Given the description of an element on the screen output the (x, y) to click on. 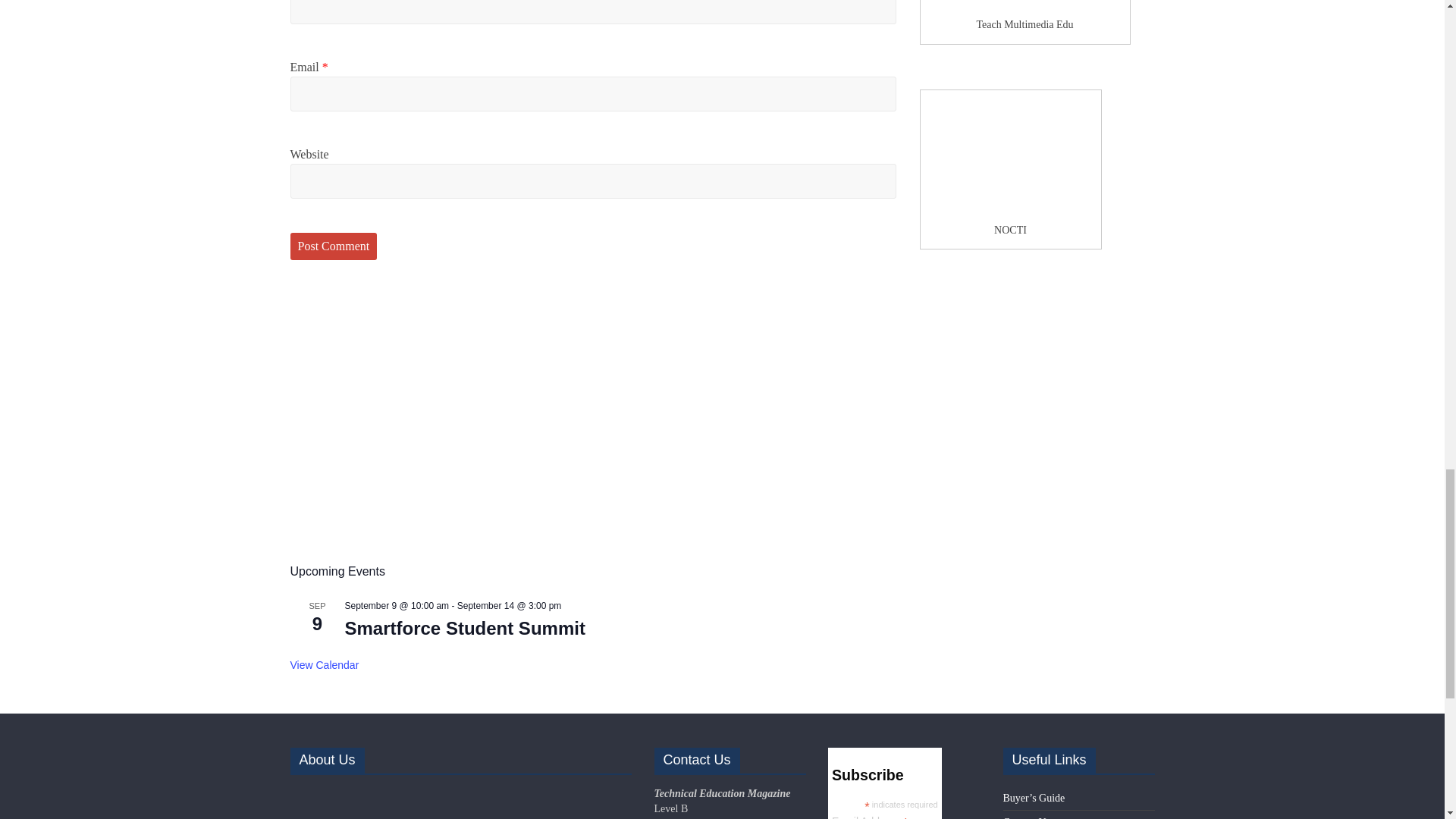
Smartforce Student Summit (464, 628)
Post Comment (333, 246)
View more events. (323, 665)
Post Comment (333, 246)
Technical Education Post (402, 793)
